Given the description of an element on the screen output the (x, y) to click on. 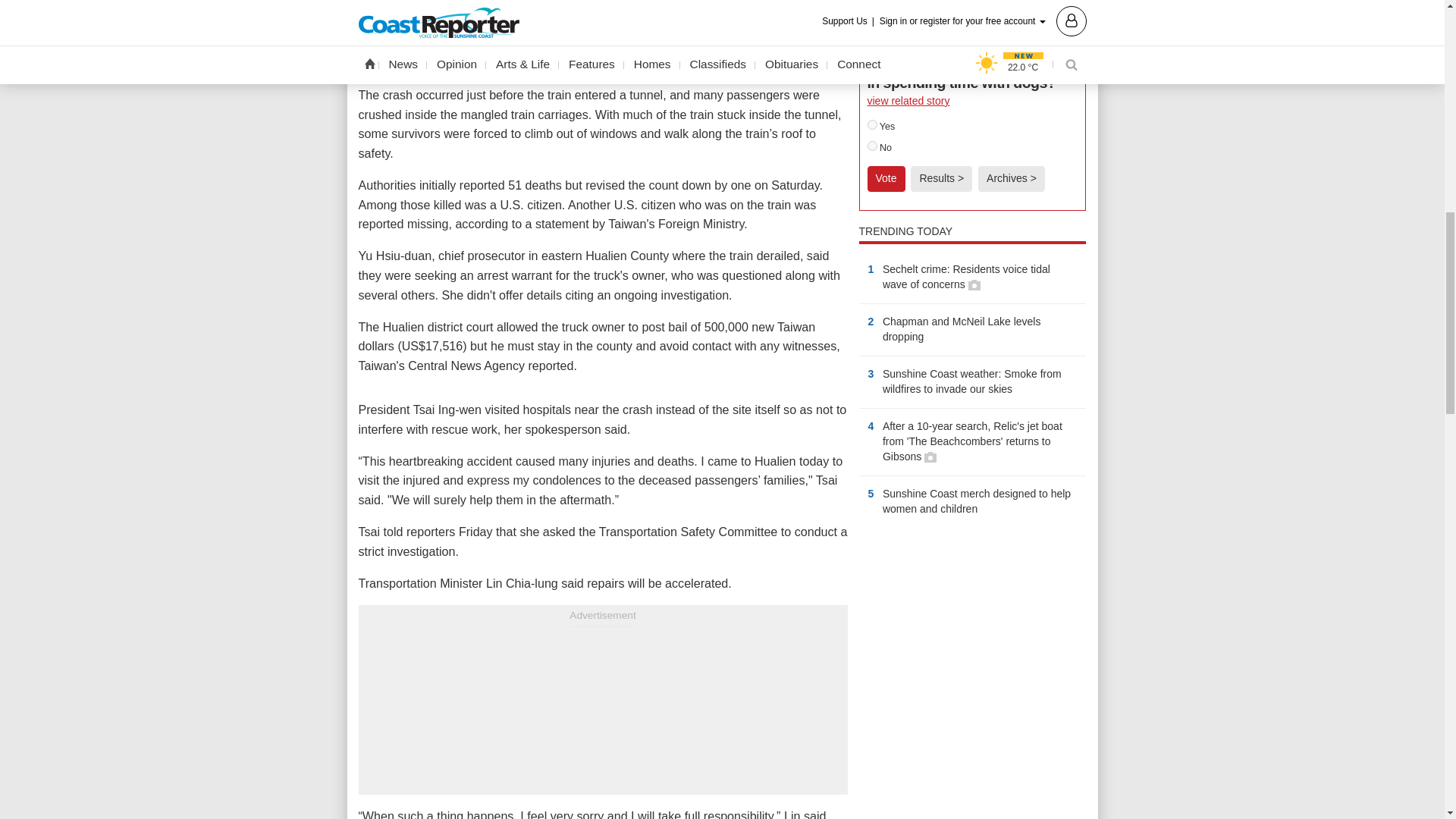
Has a gallery (973, 285)
122785 (872, 145)
122784 (872, 124)
Has a gallery (930, 457)
